Given the description of an element on the screen output the (x, y) to click on. 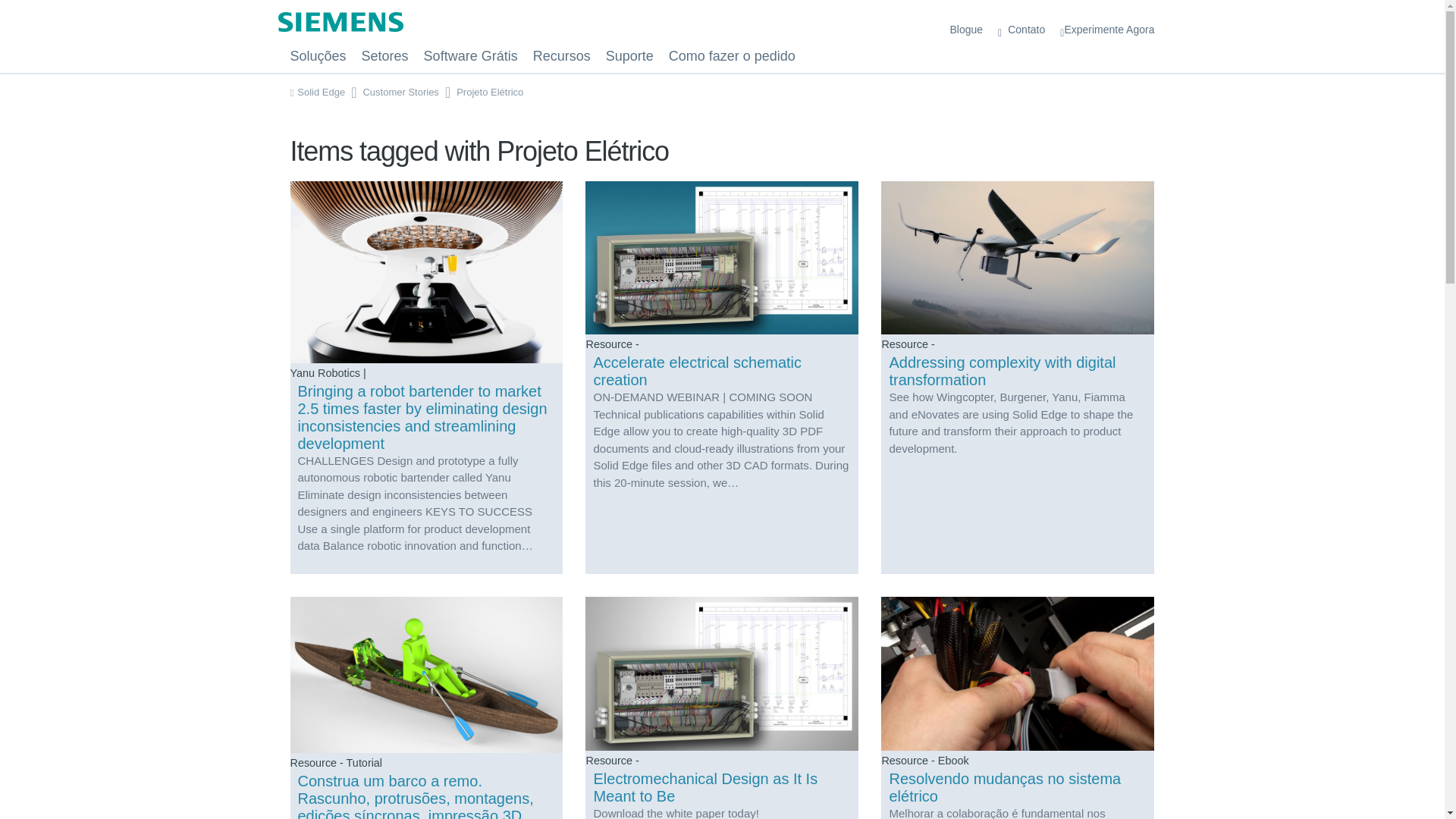
Skip to content (9, 4)
Go to Customer Stories. (400, 91)
Go to Solid Edge. (317, 91)
Customer Stories (400, 91)
Solid Edge (317, 91)
Electromechanical Design as It Is Meant to Be (721, 708)
